Given the description of an element on the screen output the (x, y) to click on. 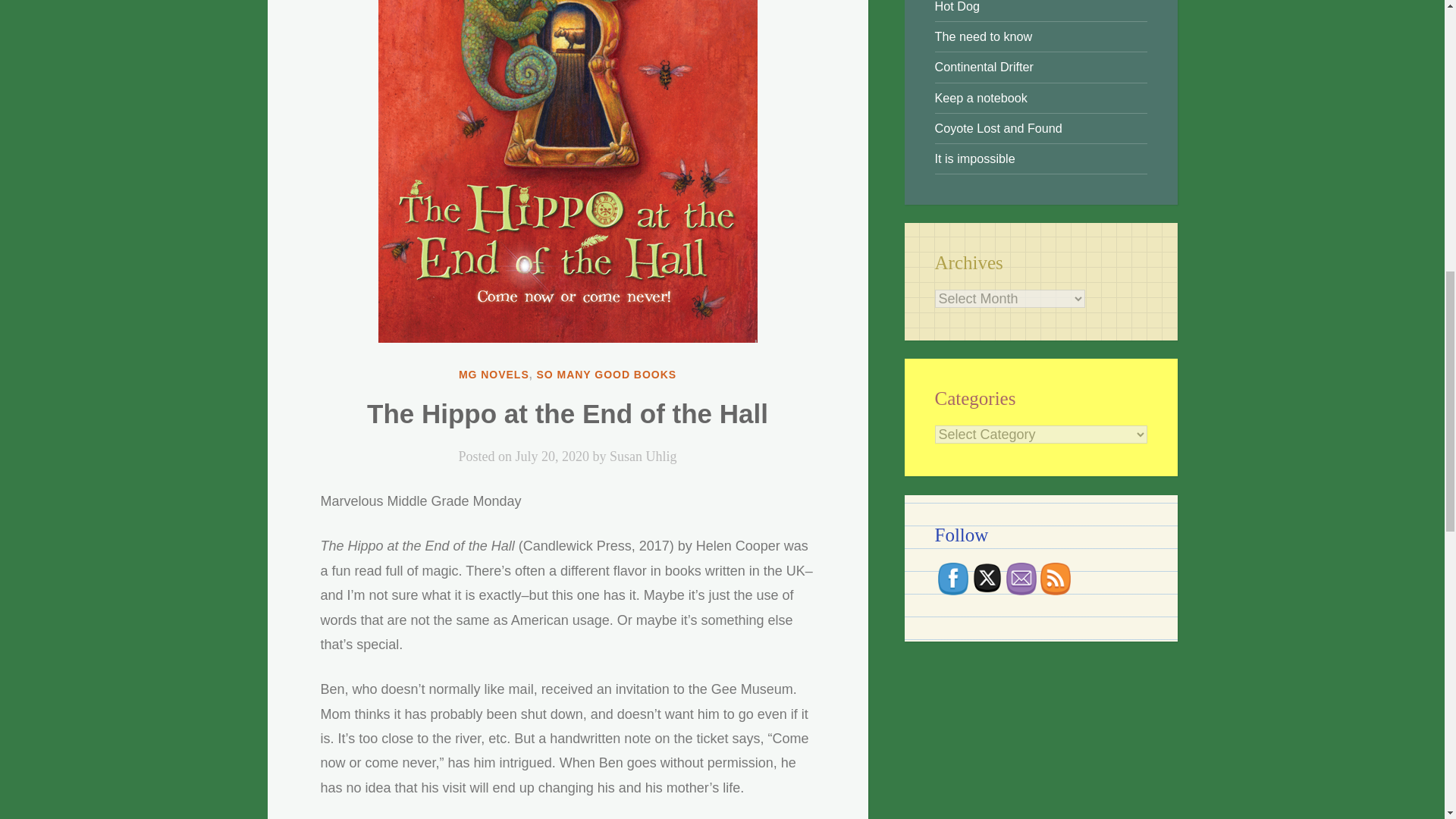
Twitter (987, 577)
The need to know (983, 36)
Facebook (952, 578)
Coyote Lost and Found (997, 128)
The Hippo at the End of the Hall (567, 413)
Continental Drifter (983, 66)
Susan Uhlig (643, 456)
Hot Dog (956, 6)
It is impossible (974, 158)
Keep a notebook (980, 97)
MG NOVELS (493, 374)
SO MANY GOOD BOOKS (606, 374)
RSS - get posts in your feed (1055, 578)
July 20, 2020 (552, 456)
